Given the description of an element on the screen output the (x, y) to click on. 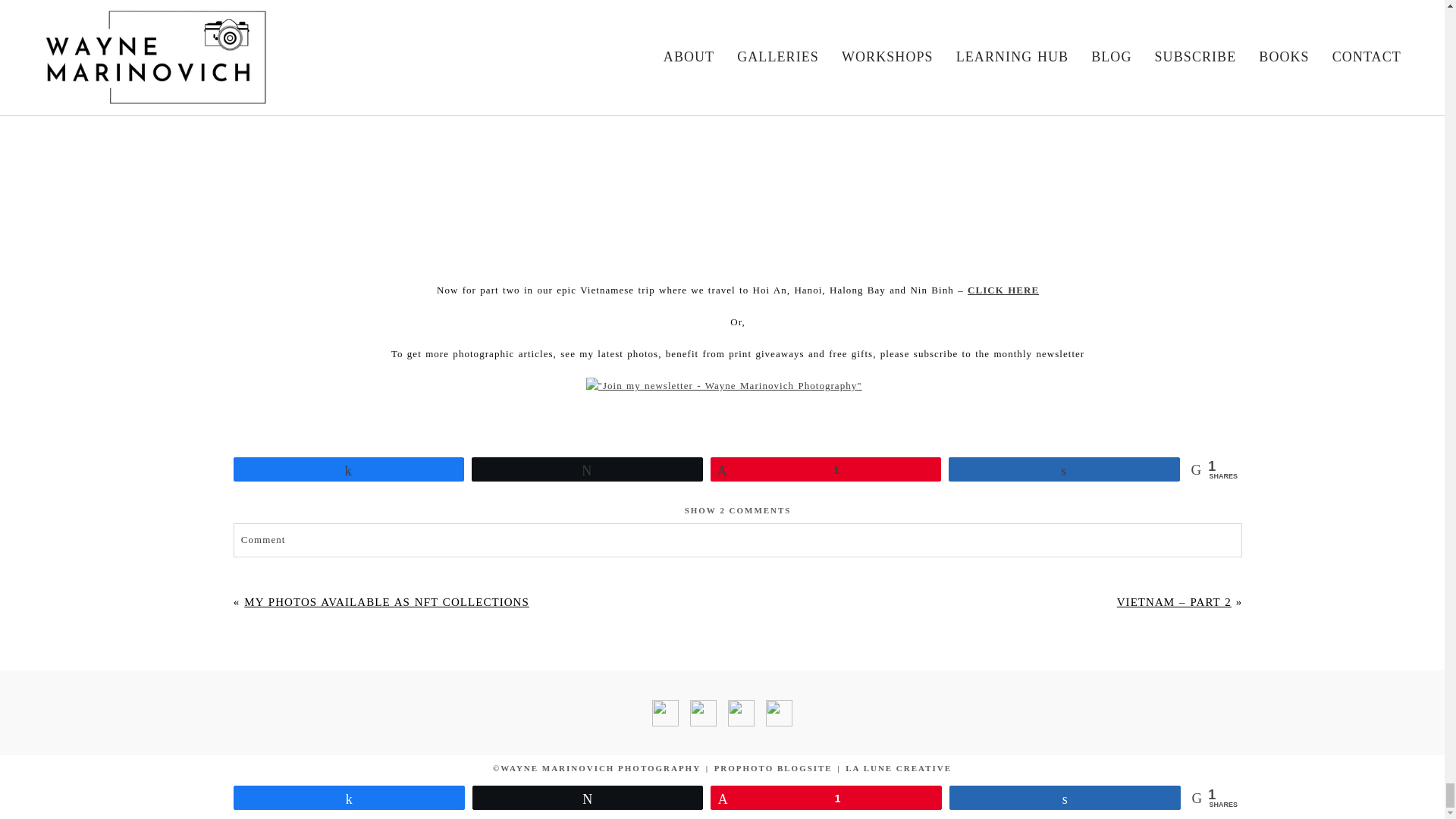
CLICK HERE (1003, 289)
1 (825, 468)
SHOW 2 COMMENTS (738, 510)
MY PHOTOS AVAILABLE AS NFT COLLECTIONS (386, 602)
